Given the description of an element on the screen output the (x, y) to click on. 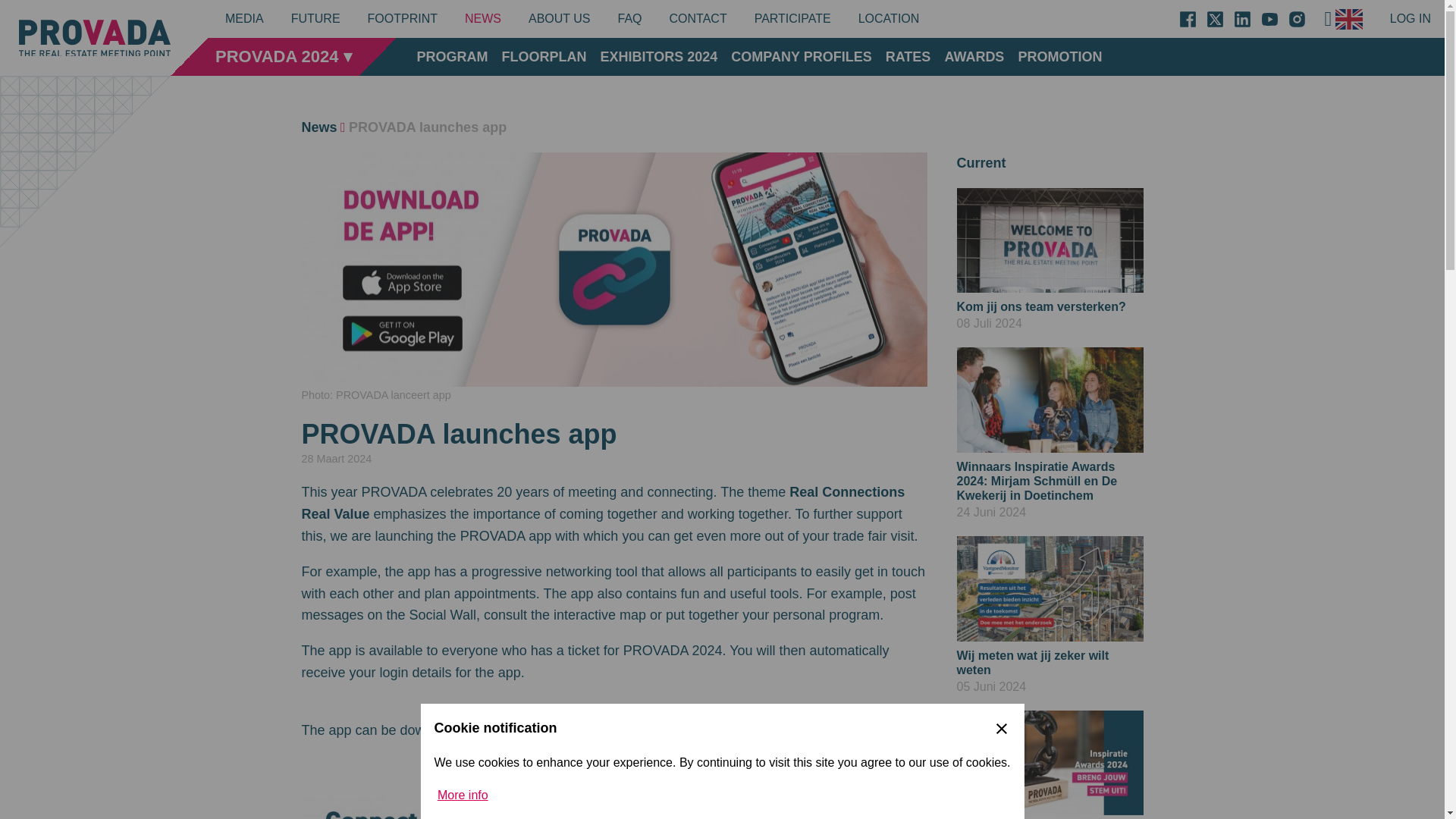
FOOTPRINT (403, 18)
ABOUT US (559, 18)
Our ambition: Zero Footprint (403, 18)
FLOORPLAN (544, 56)
Linkedin (1241, 18)
MEDIA (244, 18)
PROVADA app promotiebanner 1000x200px versie 01 (614, 804)
LOG IN (1410, 18)
Contact (697, 18)
Instagram (1297, 18)
PROMOTION (1059, 56)
News (1049, 260)
PROVADA FUTURE Innovation Square  (319, 127)
PROGRAM (315, 18)
